Given the description of an element on the screen output the (x, y) to click on. 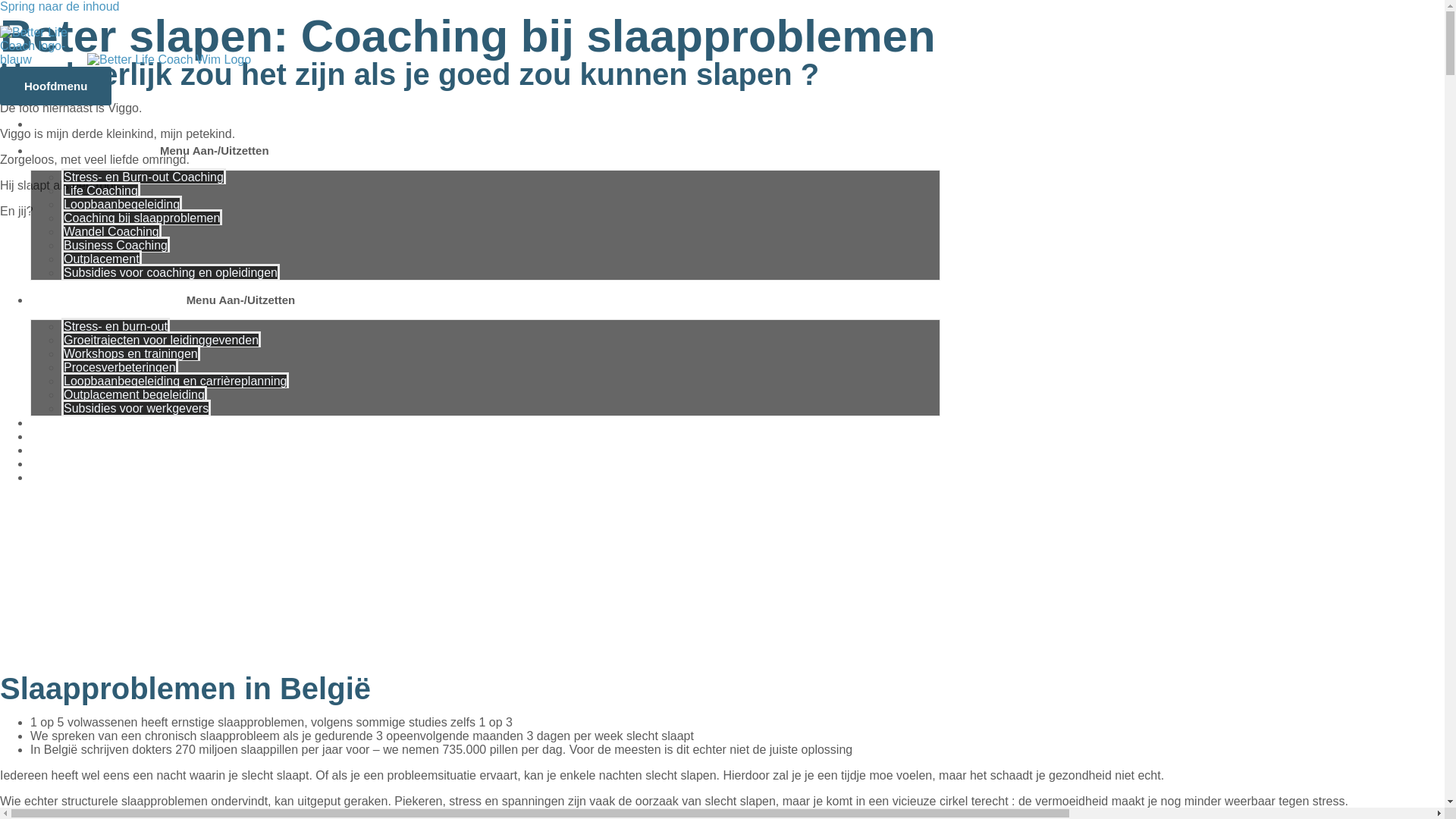
Wandel Coaching Element type: text (111, 230)
Workshops en trainingen Element type: text (130, 352)
Groeitrajecten voor leidinggevenden Element type: text (160, 339)
Subsidies voor werkgevers Element type: text (135, 407)
Over mij Element type: text (52, 449)
Menu Aan-/Uitzetten Element type: text (214, 150)
Loopbaanbegeleiding Element type: text (121, 203)
Procesverbeteringen Element type: text (119, 366)
Business Coaching Element type: text (115, 244)
Praktisch Element type: text (55, 422)
Getuigenissen Element type: text (68, 435)
Stress- en Burn-out Coaching Element type: text (143, 176)
Menu Aan-/Uitzetten Element type: text (241, 299)
Contact Element type: text (51, 476)
Blog Element type: text (42, 463)
Home Element type: text (46, 123)
Stress- en burn-out Element type: text (115, 325)
Aanbod voor bedrijven Element type: text (96, 299)
Outplacement begeleiding Element type: text (134, 393)
Subsidies voor coaching en opleidingen Element type: text (170, 271)
Outplacement Element type: text (101, 258)
Hoofdmenu Element type: text (55, 85)
Life Coaching Element type: text (100, 189)
Coaching bij slaapproblemen Element type: text (141, 217)
Coaching aanbod Element type: text (82, 150)
Spring naar de inhoud Element type: text (59, 6)
